Given the description of an element on the screen output the (x, y) to click on. 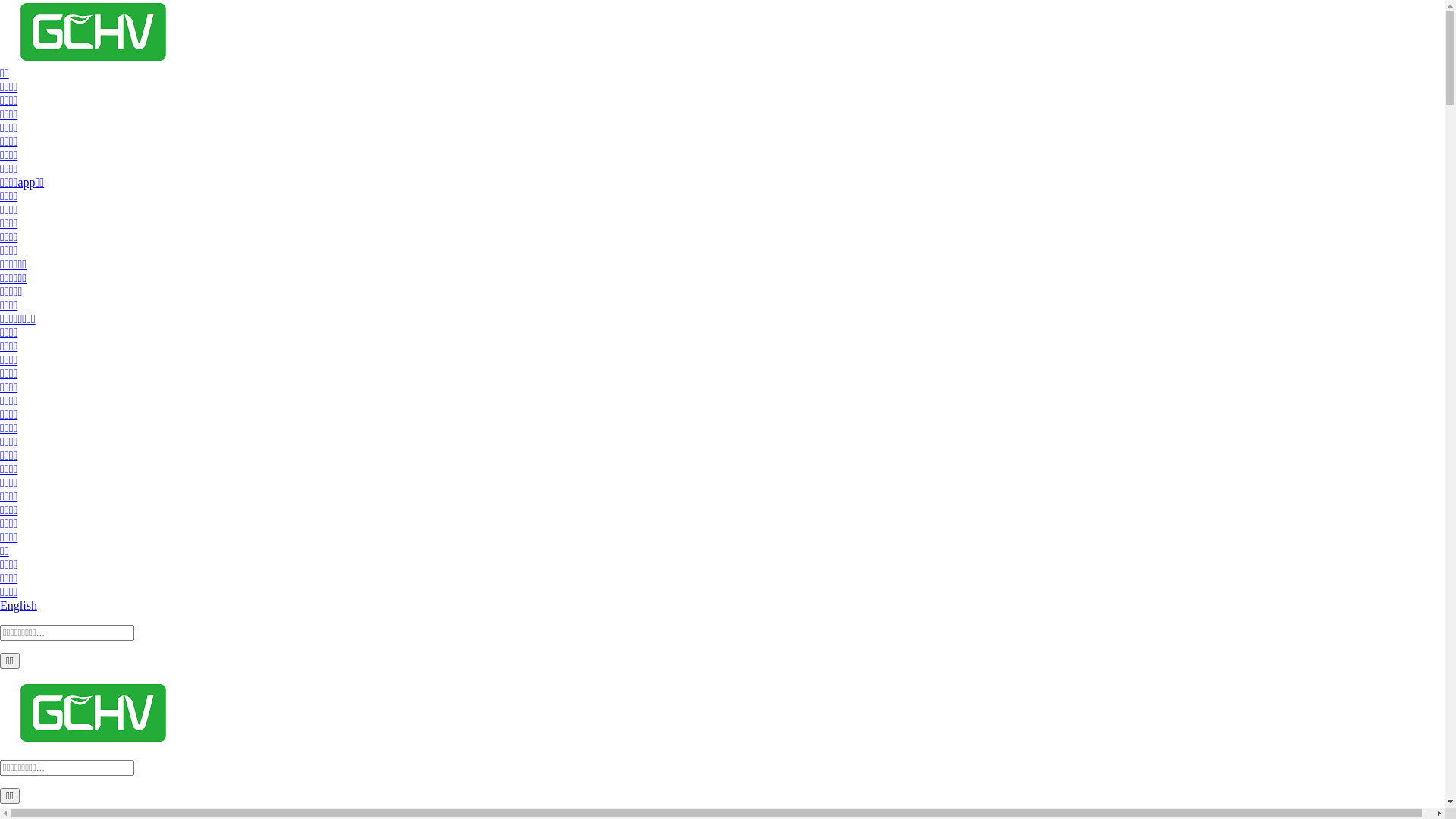
English Element type: text (18, 605)
